Given the description of an element on the screen output the (x, y) to click on. 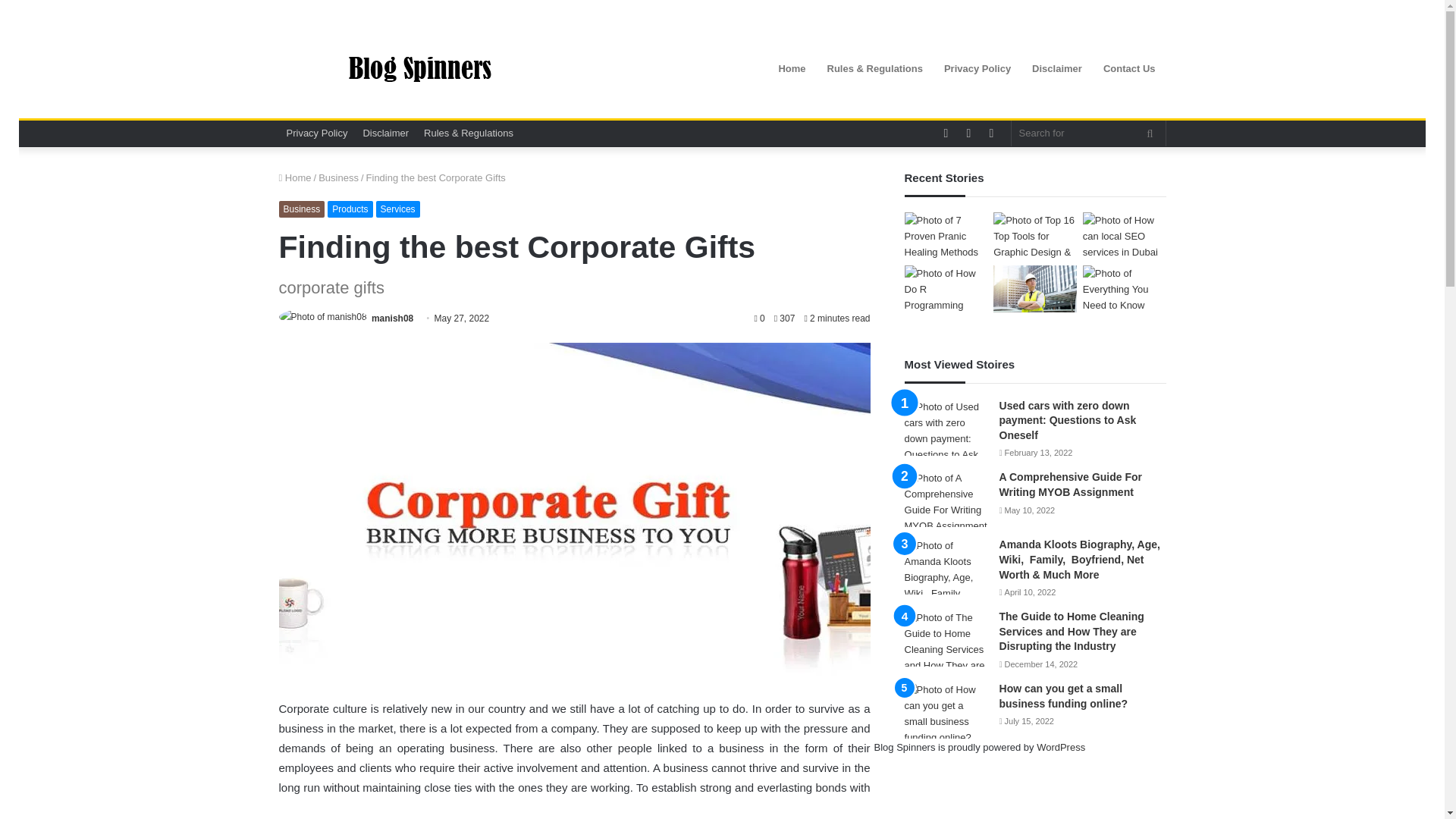
Privacy Policy (977, 68)
Business (338, 177)
Home (295, 177)
Services (397, 208)
manish08 (392, 317)
Business (301, 208)
corporate gifts (436, 807)
Blog Spinners (419, 69)
Products (349, 208)
Privacy Policy (317, 132)
Search for (1088, 132)
Search for (1150, 132)
manish08 (392, 317)
Disclaimer (385, 132)
